Given the description of an element on the screen output the (x, y) to click on. 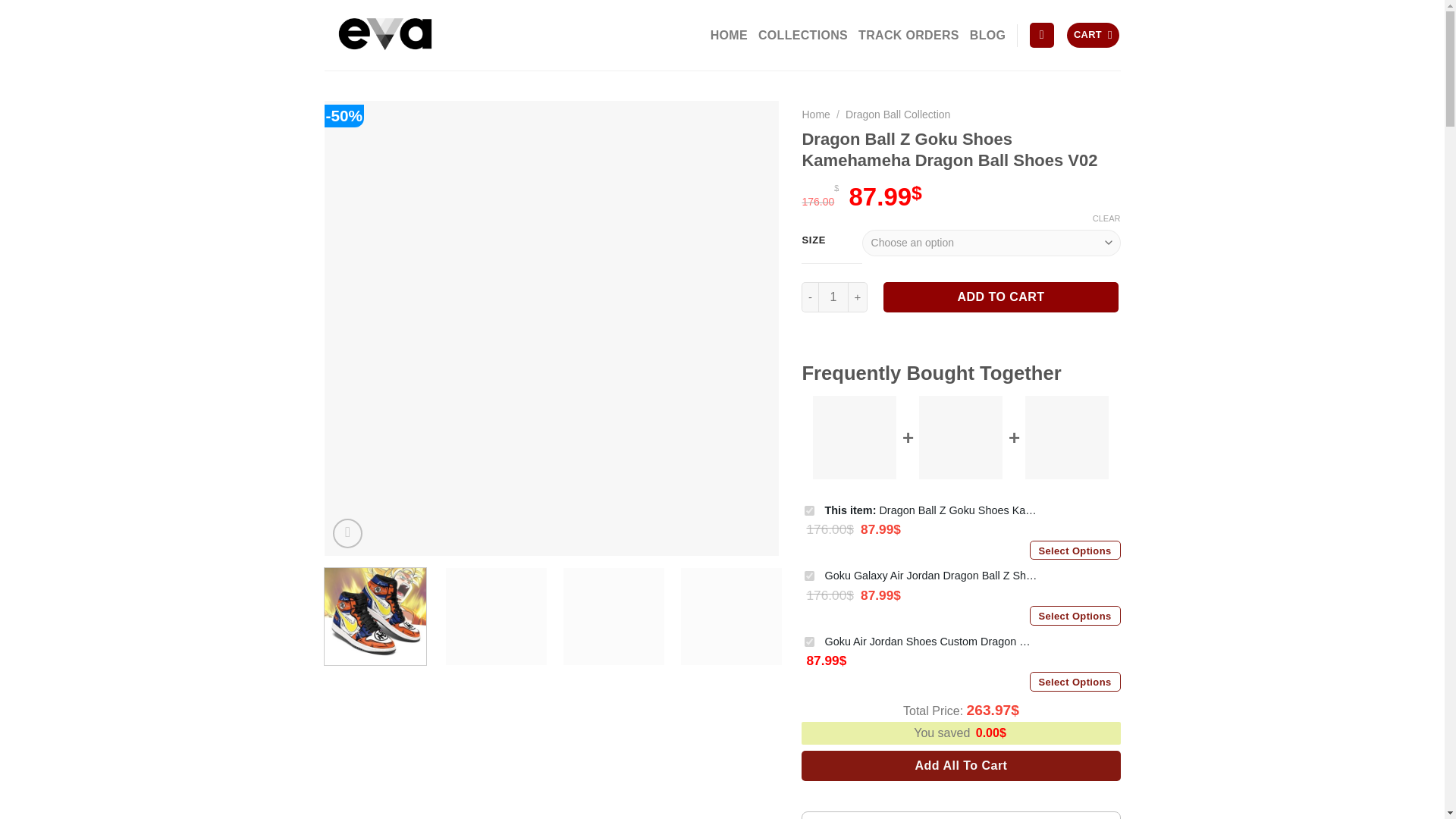
23965 (809, 642)
Goku Galaxy Air Jordan Dragon Ball Z Shoes V19 (930, 575)
Select Options (1075, 615)
Zoom (347, 532)
TRACK ORDERS (909, 34)
1 (833, 296)
CLEAR (1107, 217)
Dragon Ball Collection (897, 114)
